Given the description of an element on the screen output the (x, y) to click on. 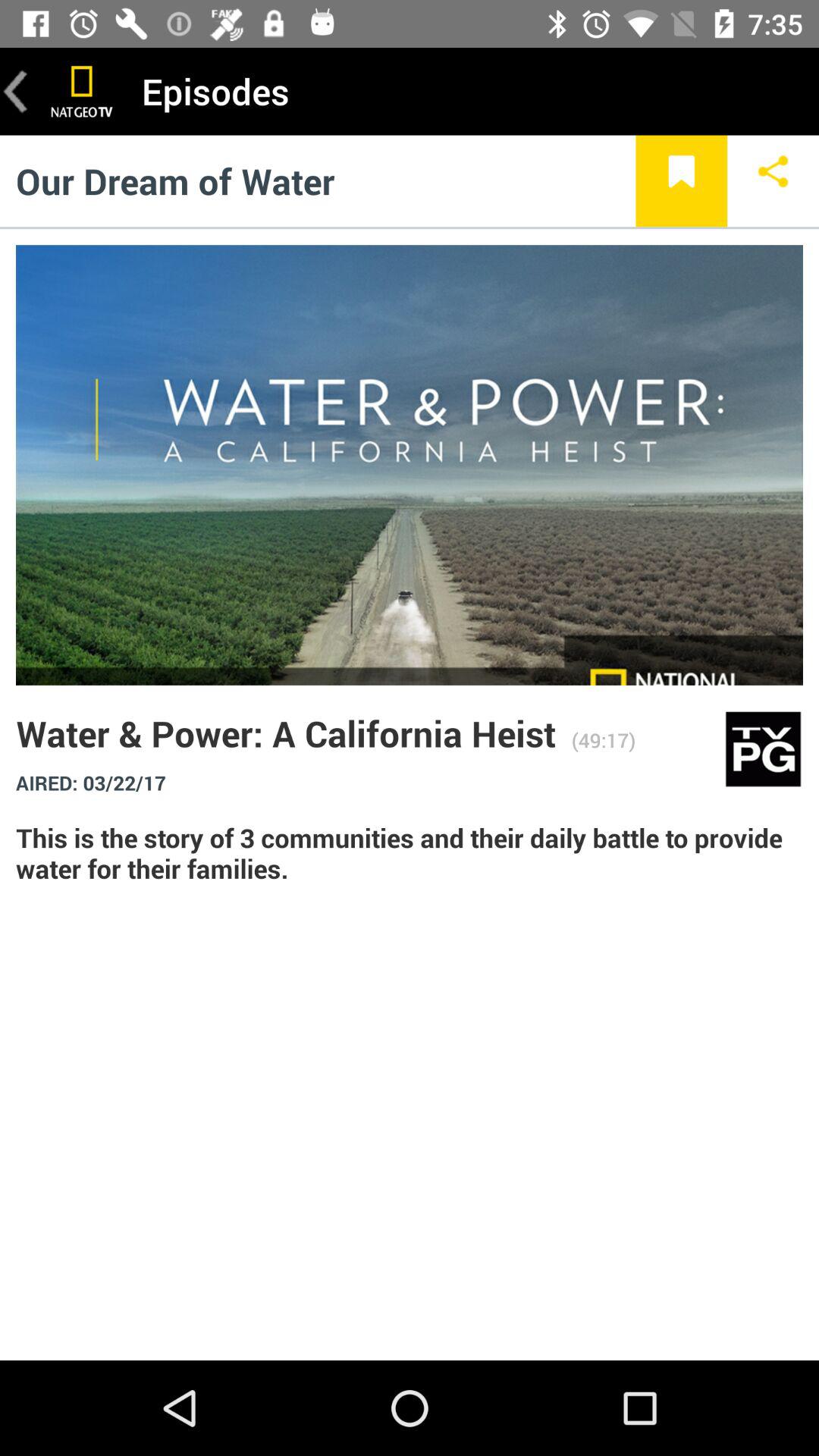
go to home page (81, 91)
